Given the description of an element on the screen output the (x, y) to click on. 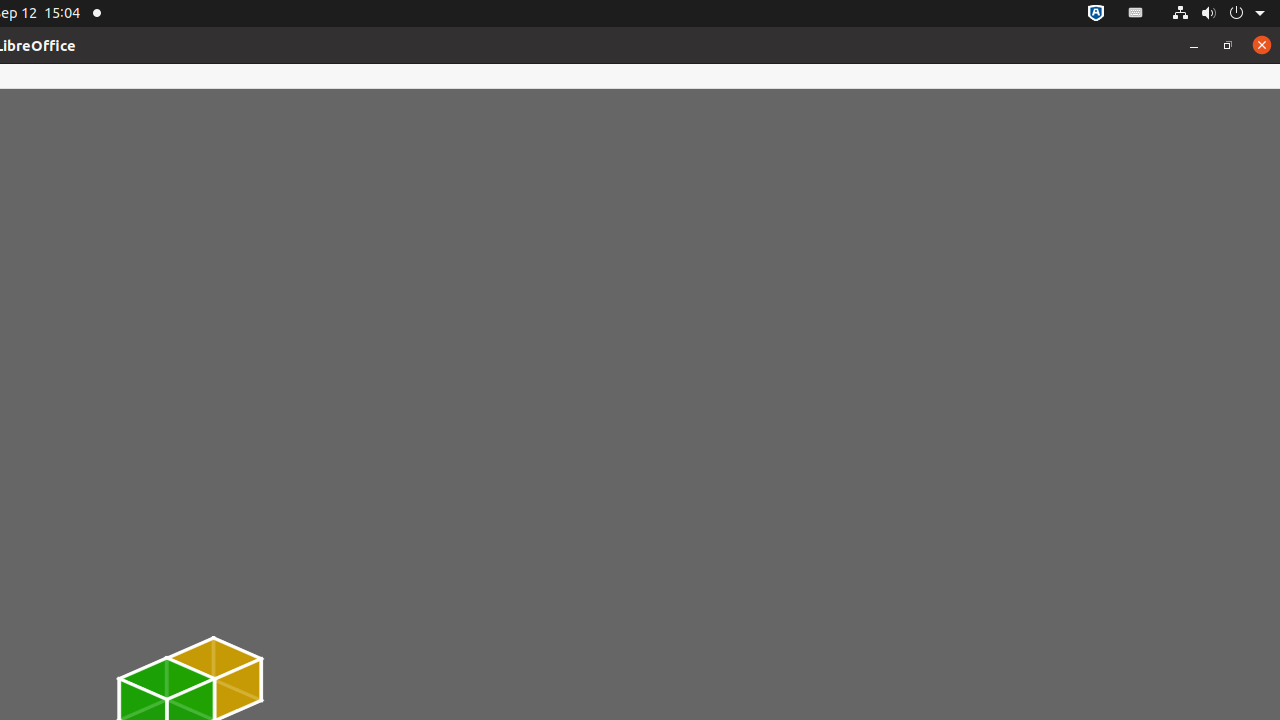
:1.21/StatusNotifierItem Element type: menu (1136, 13)
